Given the description of an element on the screen output the (x, y) to click on. 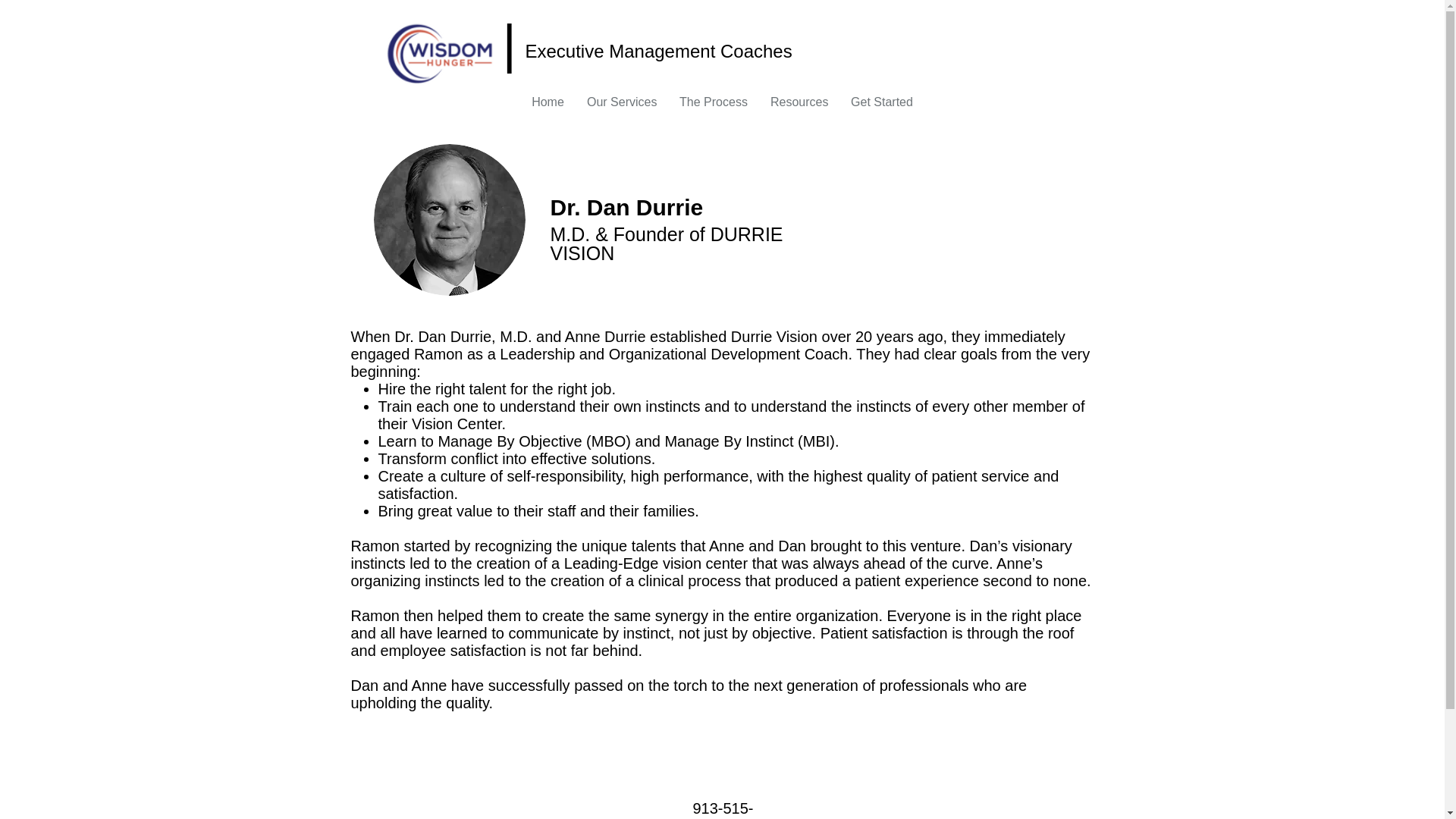
Get Started (882, 105)
Home (547, 105)
Resources (799, 105)
The Process (713, 105)
Our Services (621, 105)
